Given the description of an element on the screen output the (x, y) to click on. 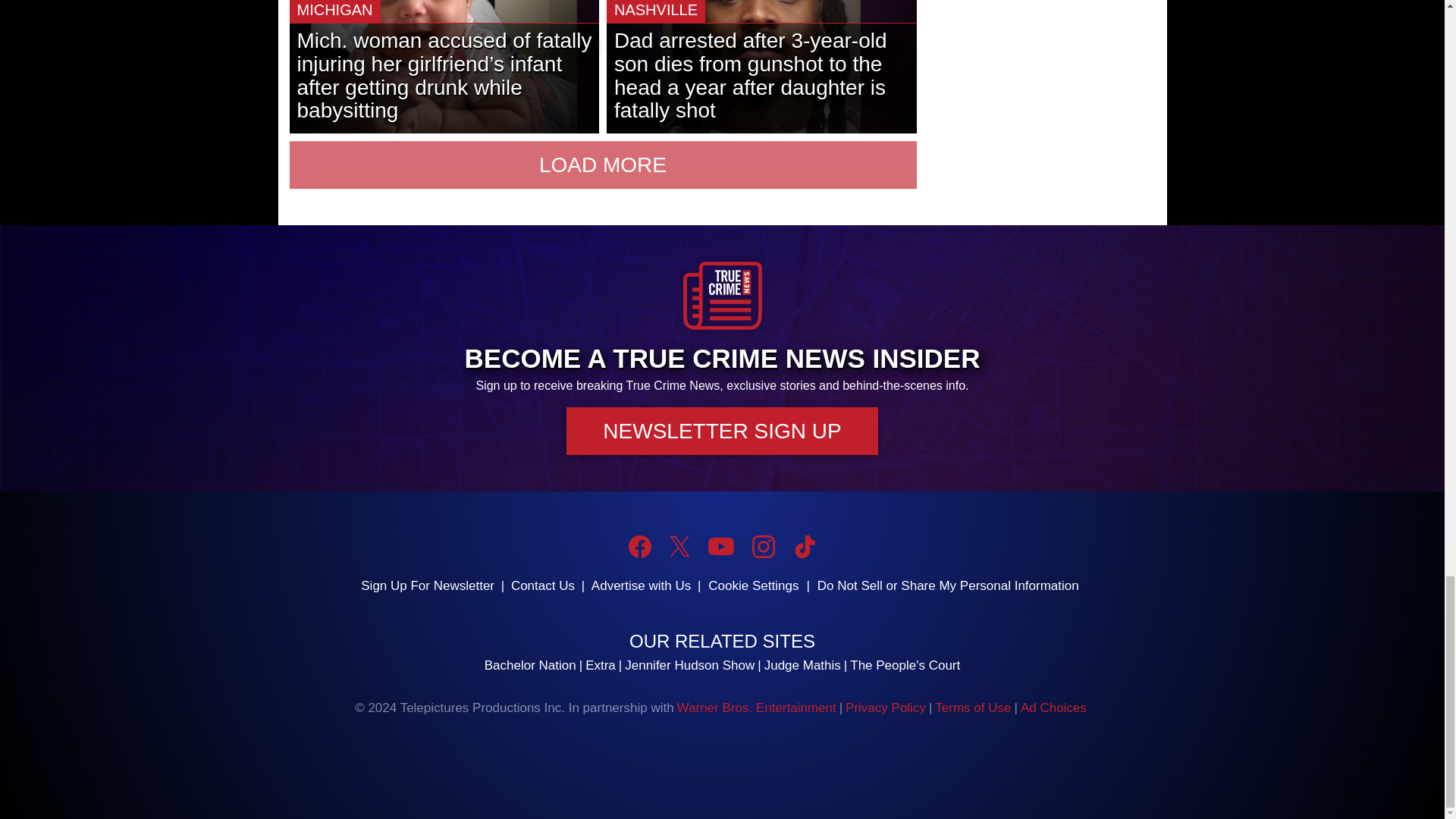
Twitter (679, 546)
Facebook (639, 546)
TikTok (804, 546)
YouTube (720, 546)
Instagram (763, 546)
